Given the description of an element on the screen output the (x, y) to click on. 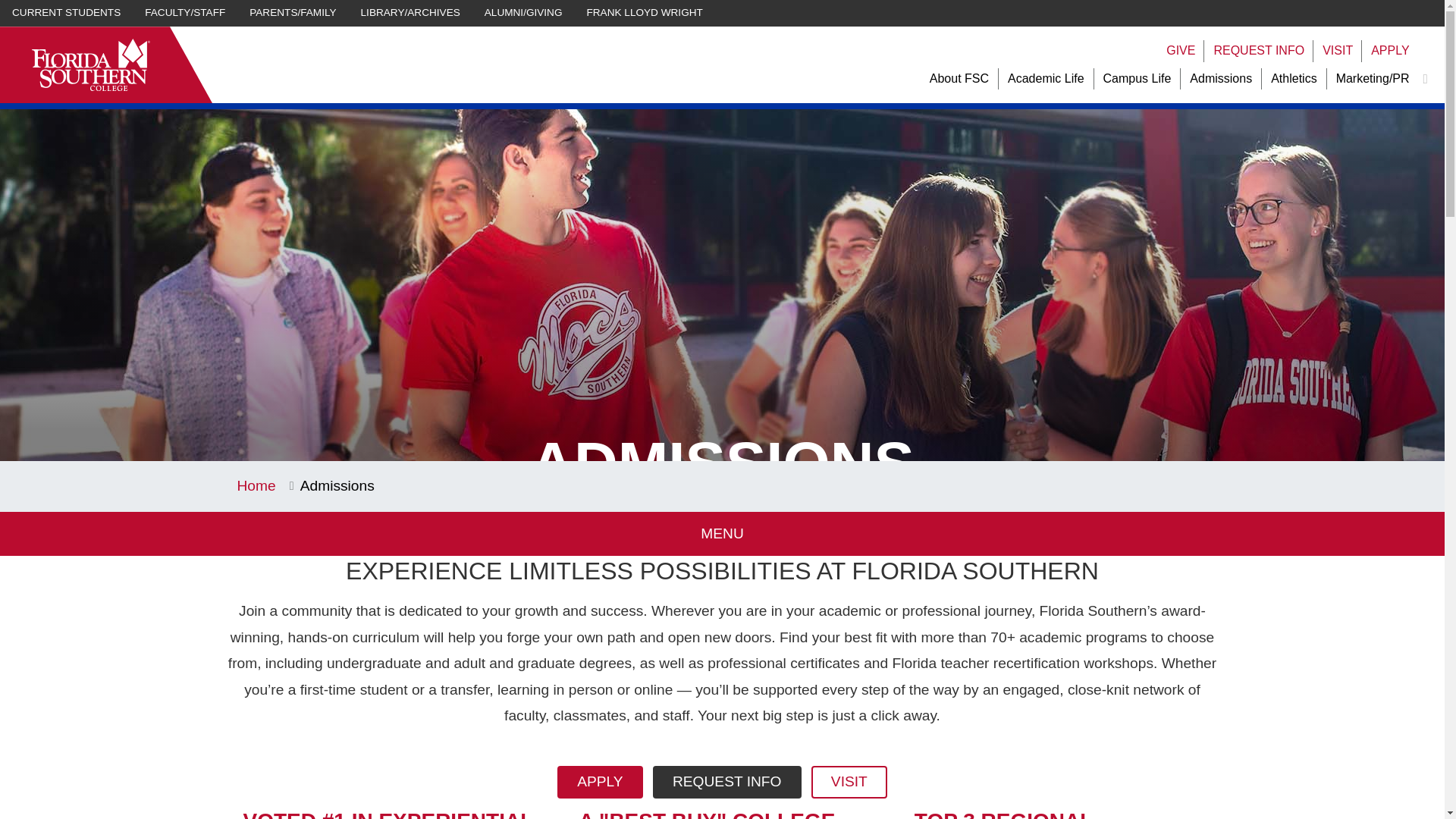
Admissions (1220, 78)
About FSC (959, 78)
FRANK LLOYD WRIGHT (644, 13)
APPLY (1390, 51)
VISIT (1337, 51)
Athletics (1293, 78)
Academic Life (1045, 78)
CURRENT STUDENTS (65, 13)
Campus Life (1137, 78)
GIVE (1180, 51)
